Given the description of an element on the screen output the (x, y) to click on. 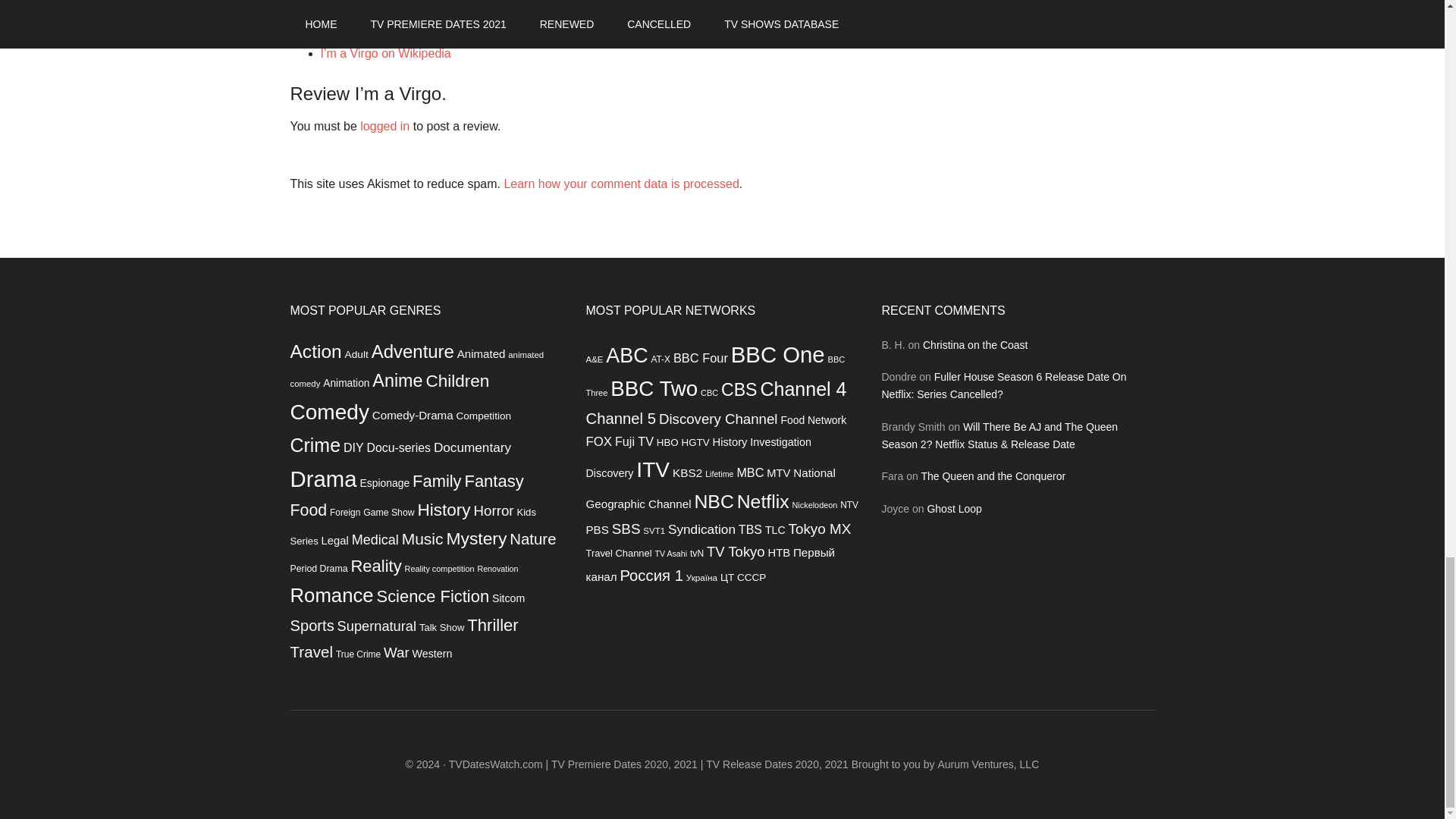
Action (314, 351)
Learn how your comment data is processed (620, 183)
logged in (384, 125)
Adult (356, 354)
Adventure (412, 351)
